Given the description of an element on the screen output the (x, y) to click on. 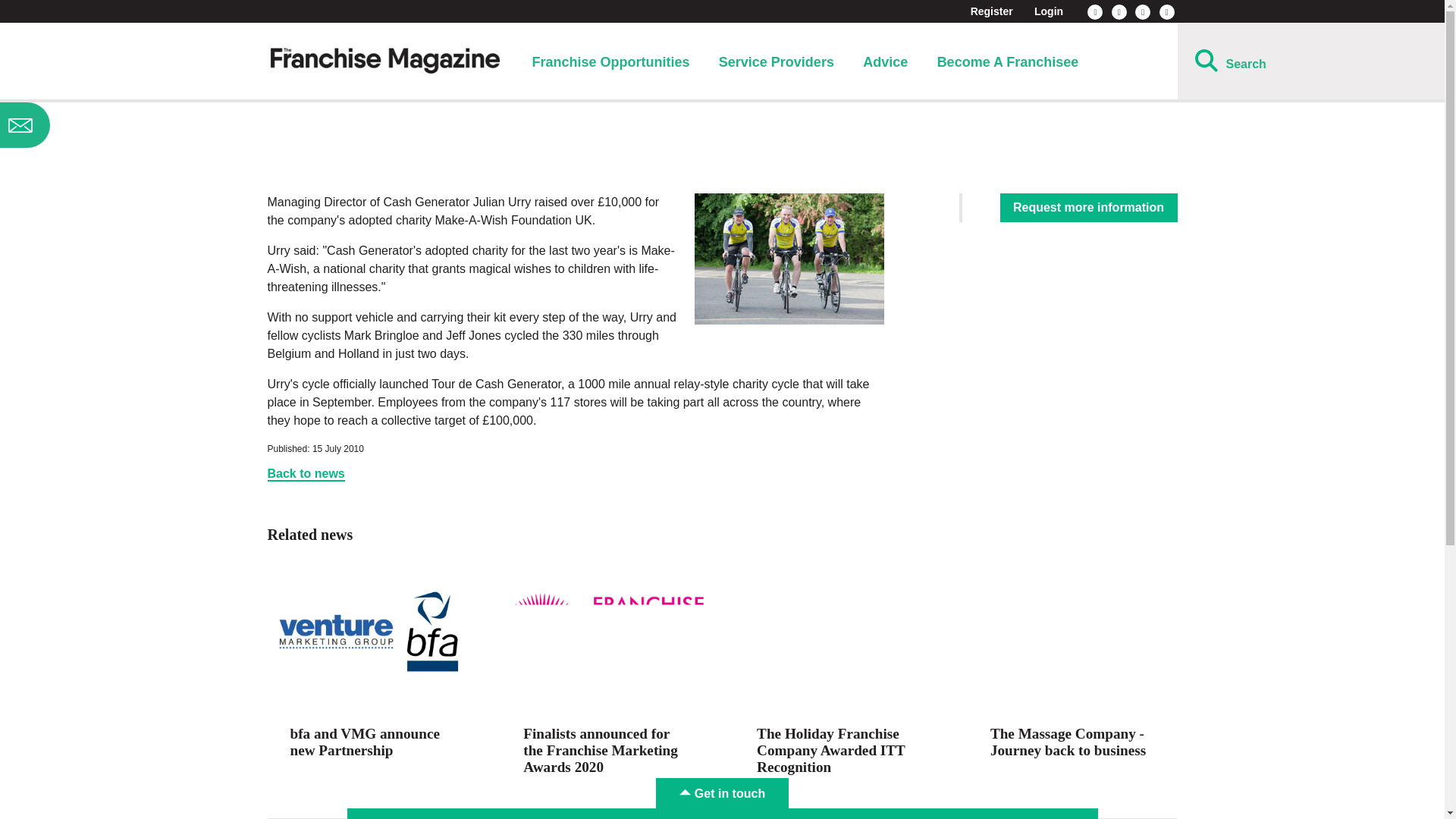
Become A Franchisee (1007, 61)
Sign up to the newsletter (120, 125)
Register (992, 10)
Service Providers (776, 61)
Login (1047, 10)
Service Providers (776, 61)
Login (1047, 10)
Advice (885, 61)
Franchise Opportunities (609, 61)
SignupModal (120, 125)
